Given the description of an element on the screen output the (x, y) to click on. 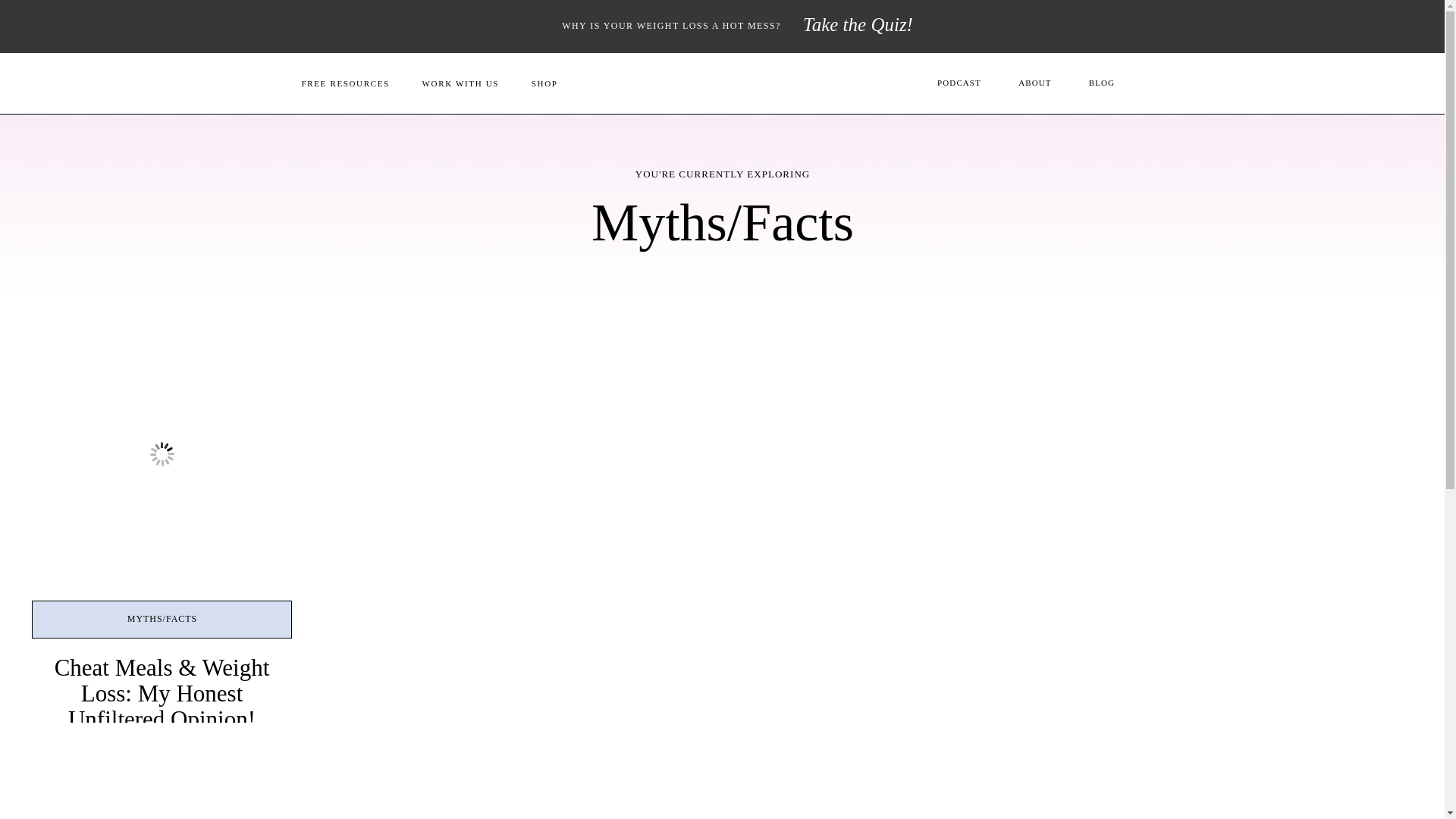
ABOUT (1035, 83)
PODCAST (959, 83)
SHOP (544, 82)
Take the Quiz! (857, 26)
WHY IS YOUR WEIGHT LOSS A HOT MESS? (670, 26)
FREE RESOURCES (345, 82)
WORK WITH US (460, 82)
BLOG (1102, 83)
